Given the description of an element on the screen output the (x, y) to click on. 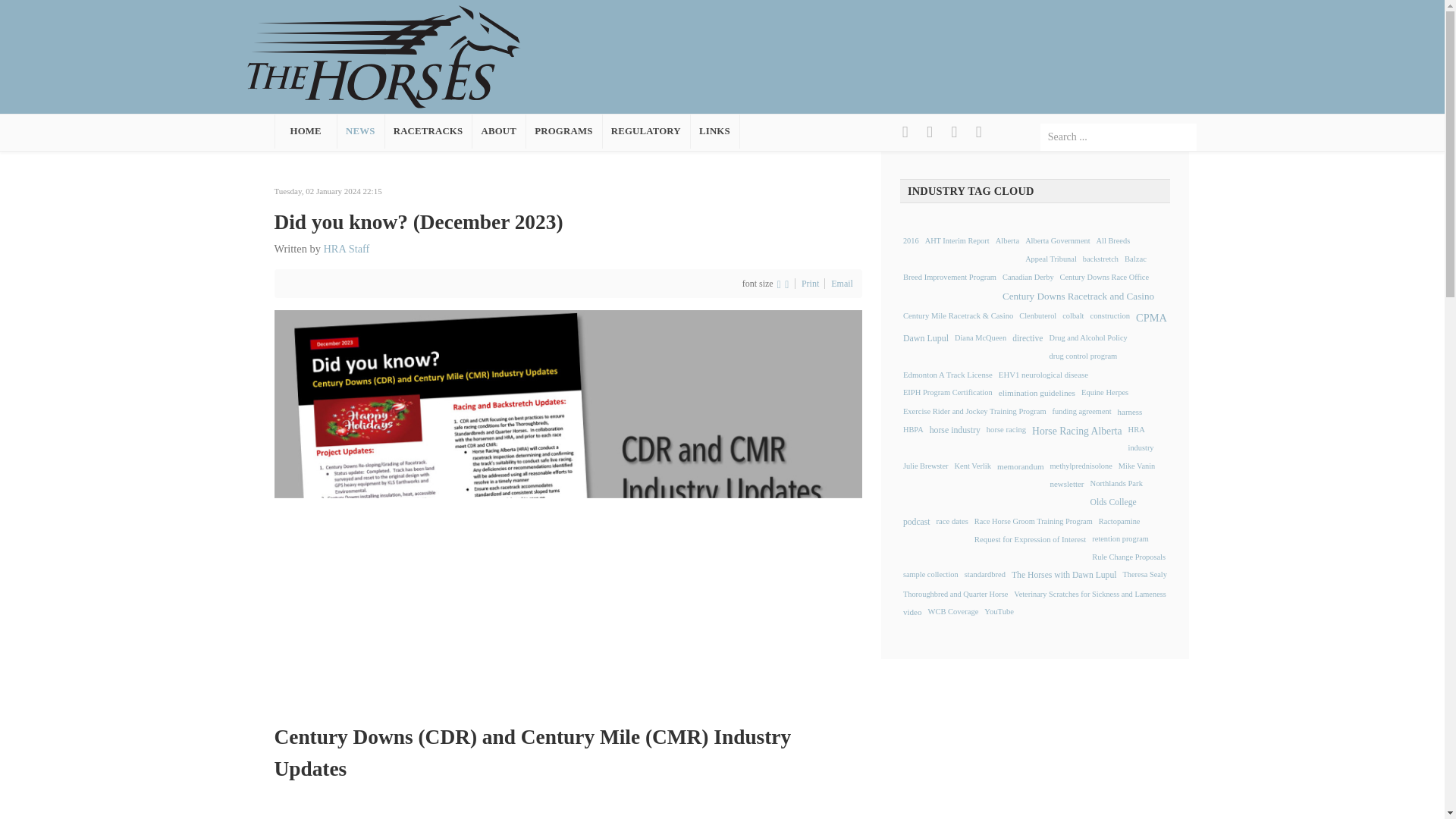
2 items tagged with Canadian Derby (1027, 277)
2 items tagged with backstretch (1100, 259)
HOME (306, 131)
3 items tagged with Breed Improvement Program (948, 277)
Click to preview image (568, 503)
4 items tagged with Balzac (1135, 259)
Home (383, 55)
2 items tagged with Alberta Government (1057, 240)
2 items tagged with 2016 (910, 240)
2 items tagged with Appeal Tribunal (1051, 259)
